Given the description of an element on the screen output the (x, y) to click on. 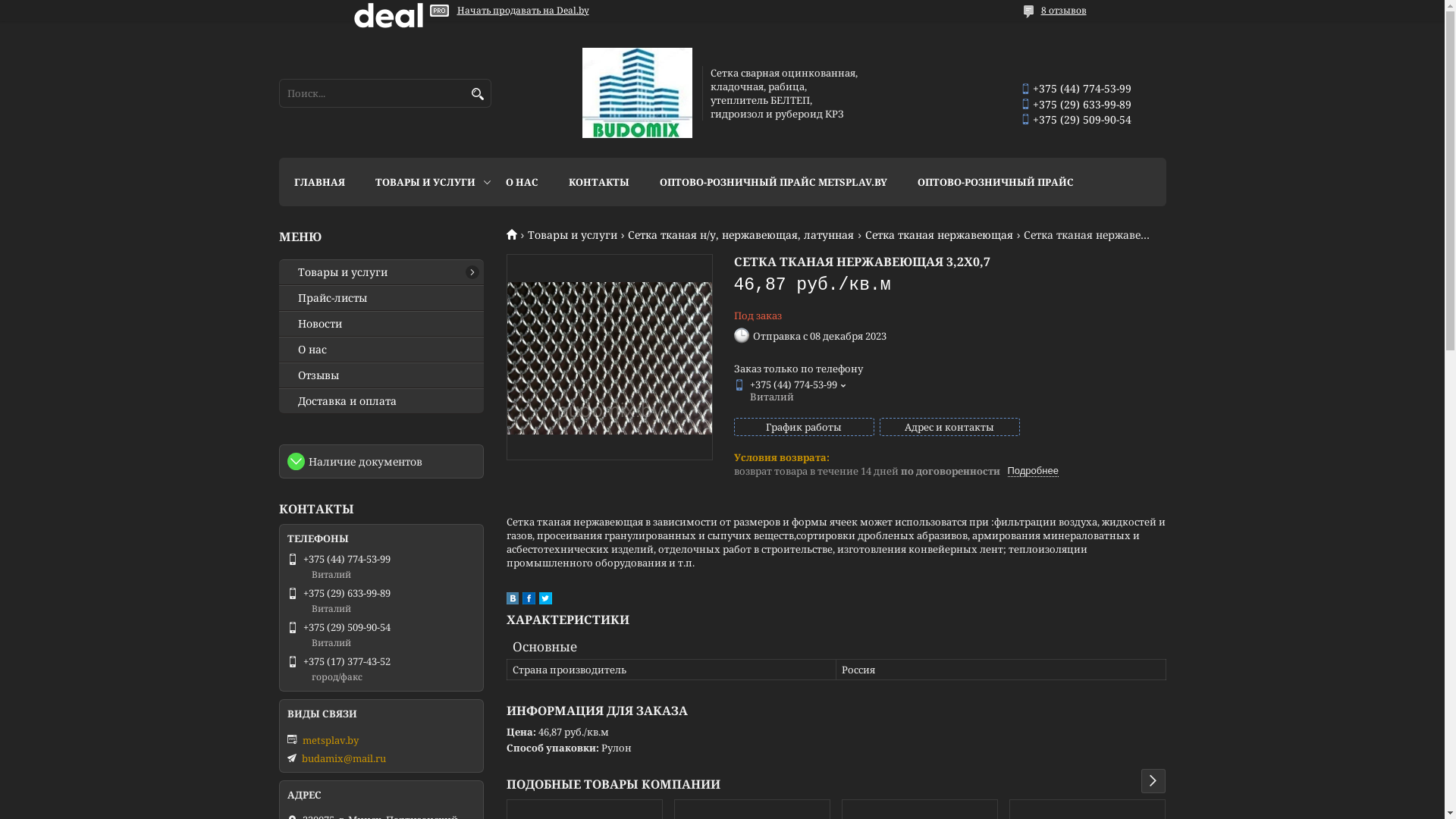
budamix@mail.ru Element type: text (343, 758)
metsplav.by Element type: text (377, 740)
facebook Element type: hover (527, 600)
twitter Element type: hover (544, 600)
